Given the description of an element on the screen output the (x, y) to click on. 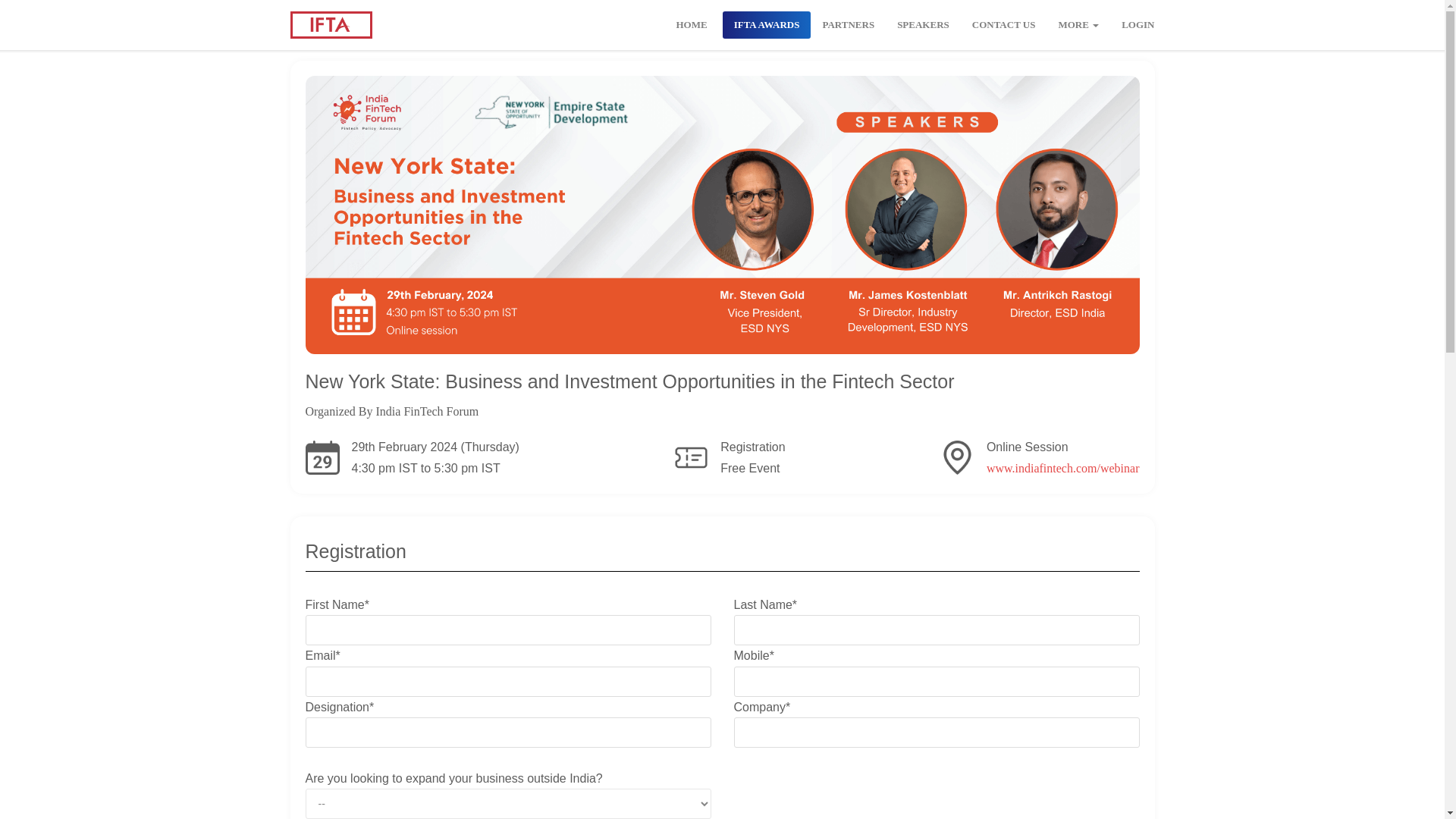
LOGIN (1137, 24)
Speakers (922, 24)
CONTACT US (1003, 24)
IFTA AWARDS (766, 24)
Home (690, 24)
IFTA Awards (766, 24)
HOME (690, 24)
SPEAKERS (922, 24)
PARTNERS (847, 24)
Partners (847, 24)
Contact Us (1003, 24)
MORE (1077, 24)
More (1077, 24)
Login (1137, 24)
